Given the description of an element on the screen output the (x, y) to click on. 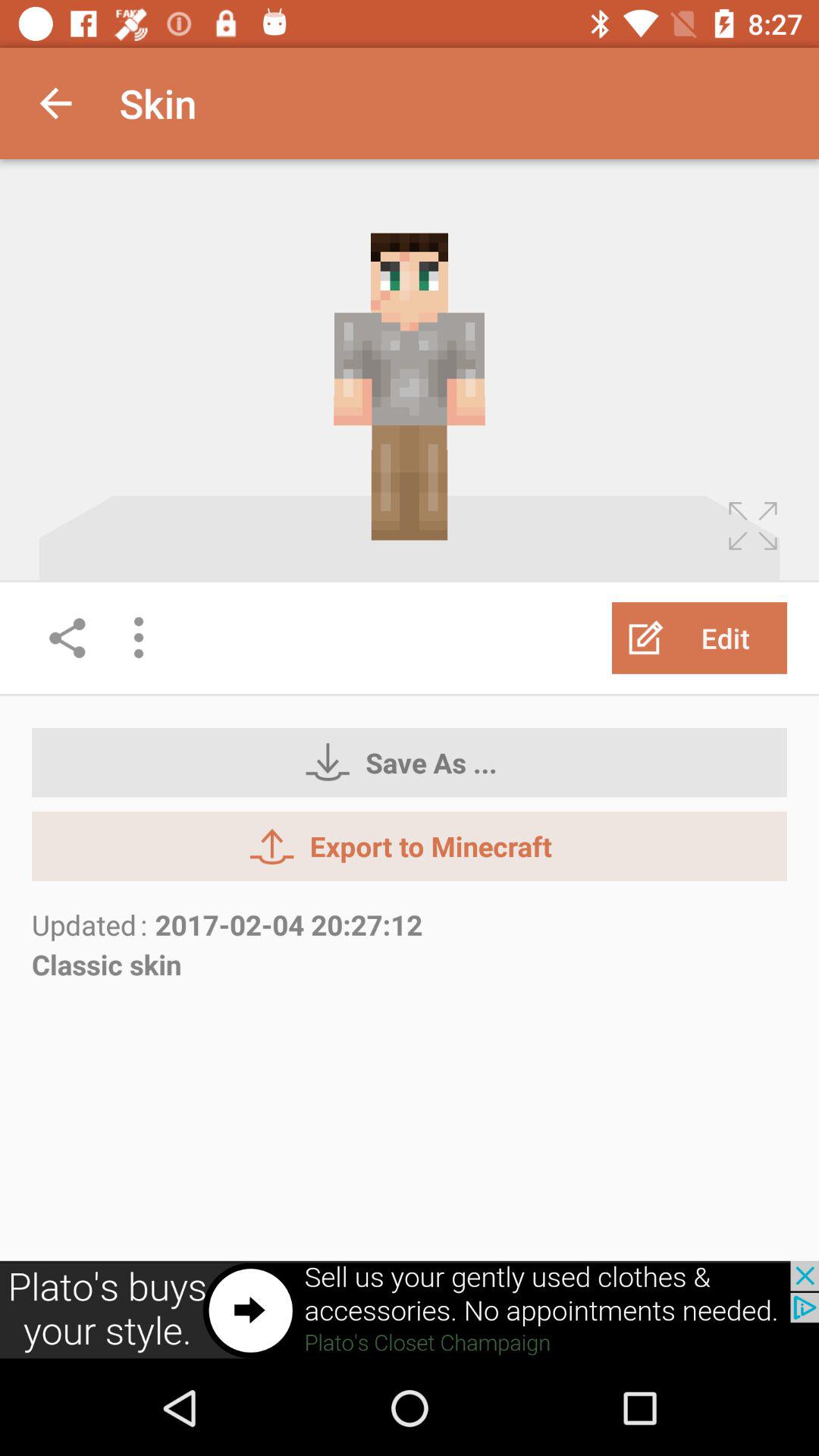
switch to advertisement if you want to sell (409, 1310)
